Given the description of an element on the screen output the (x, y) to click on. 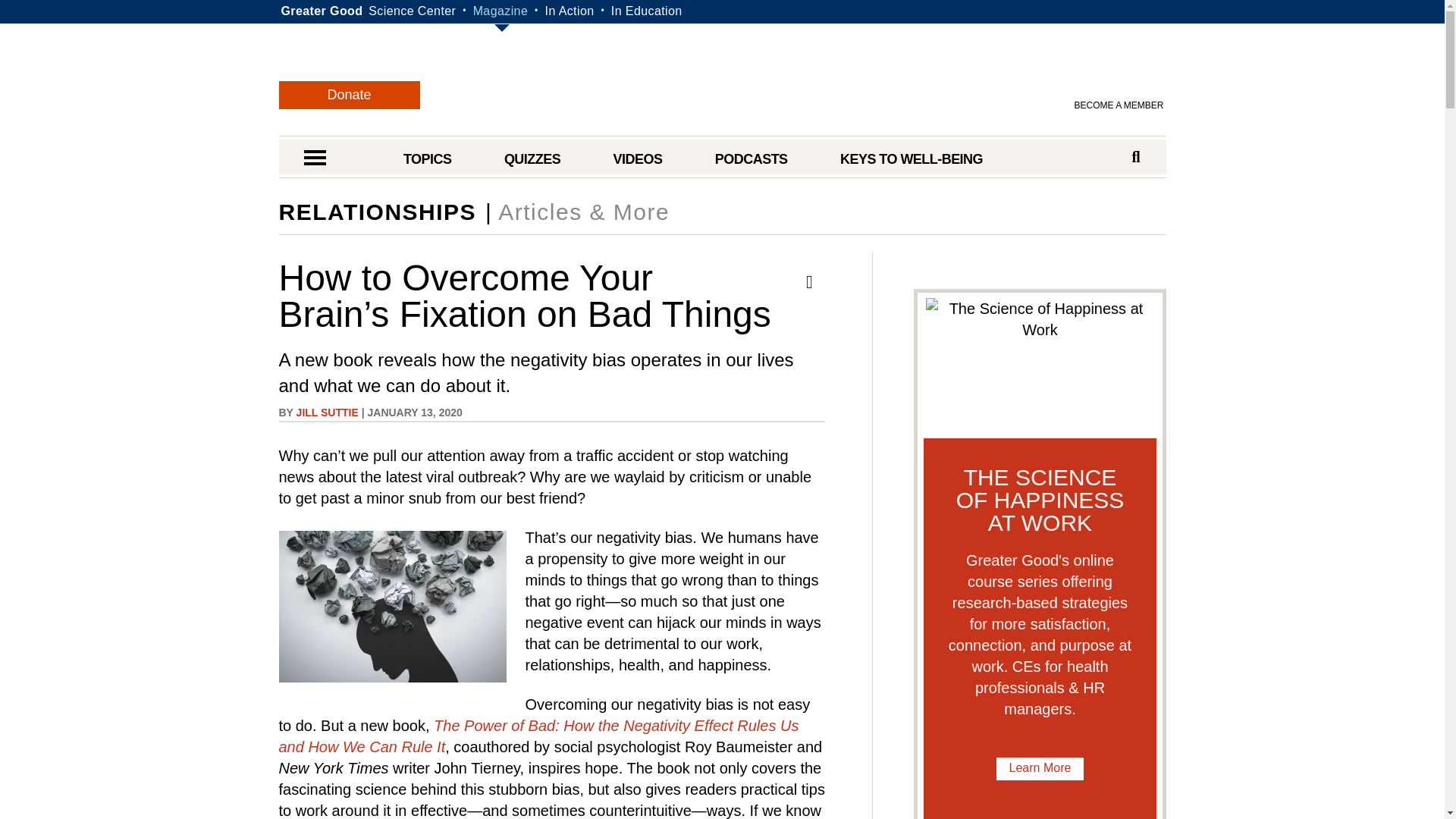
Magazine (500, 10)
Greater Good Magazine (500, 10)
The Science of Happiness at Work (1039, 768)
Greater Good In Education (646, 10)
The Science of Happiness at Work (1039, 364)
In Action (569, 10)
BECOME A MEMBER (1118, 104)
Greater Good Science Center (411, 10)
In Education (646, 10)
Greater Good In Action (569, 10)
VIDEOS (637, 158)
nav menu (313, 158)
TOPICS (427, 158)
Greater Good Magazine (730, 81)
Science Center (411, 10)
